Given the description of an element on the screen output the (x, y) to click on. 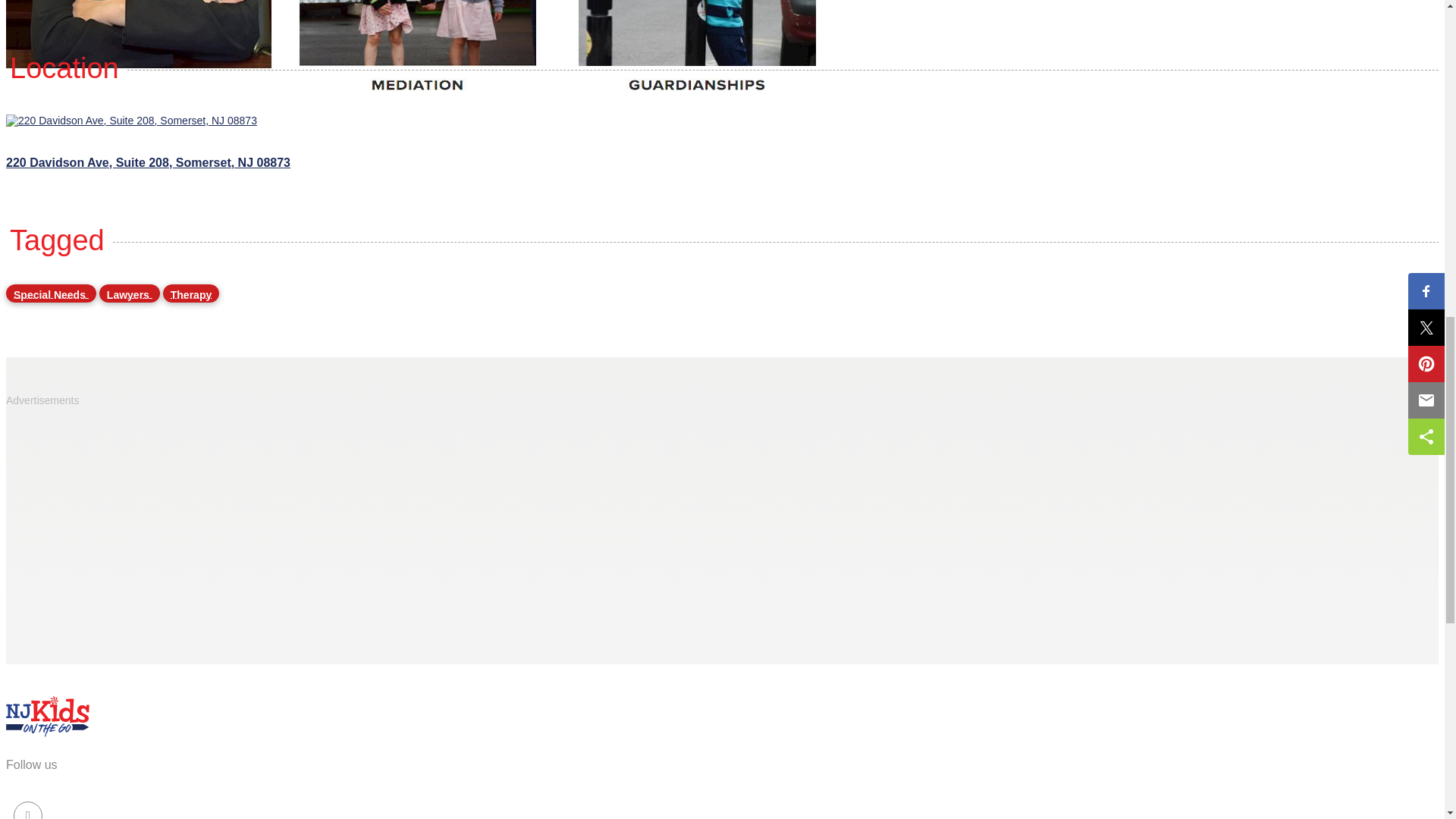
3rd party ad content (721, 511)
